Given the description of an element on the screen output the (x, y) to click on. 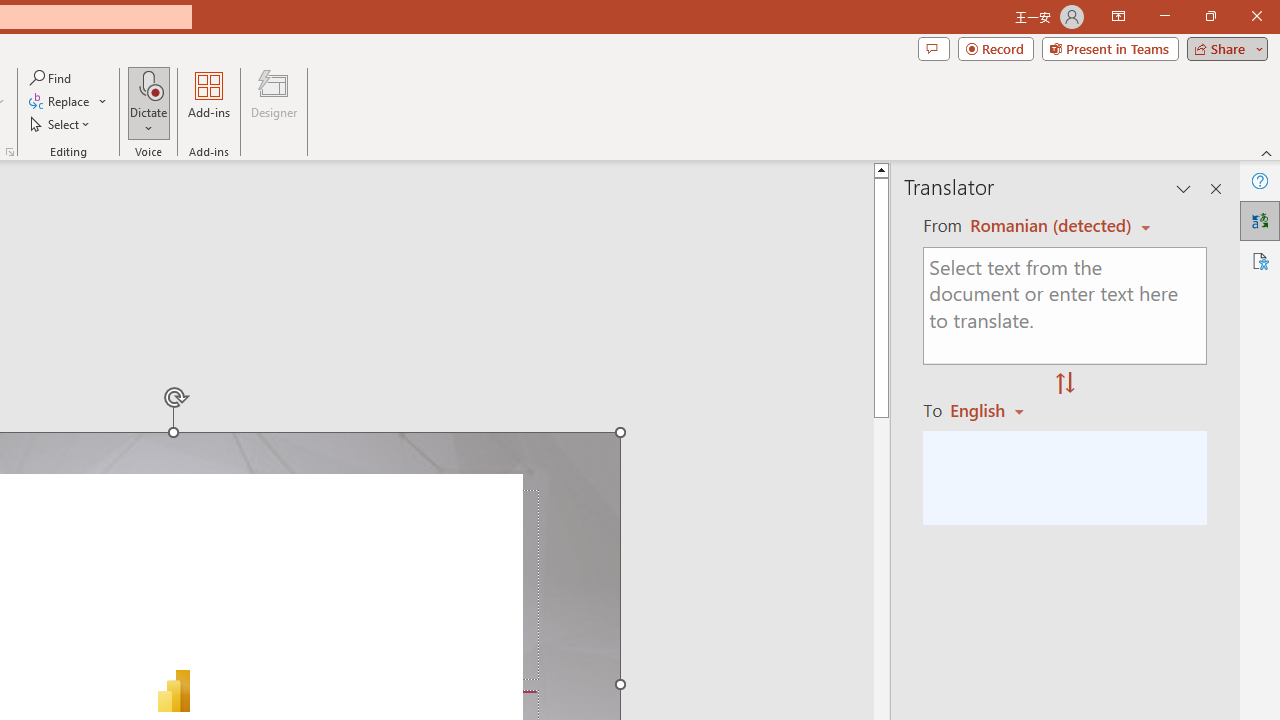
Romanian (detected) (1047, 225)
